Given the description of an element on the screen output the (x, y) to click on. 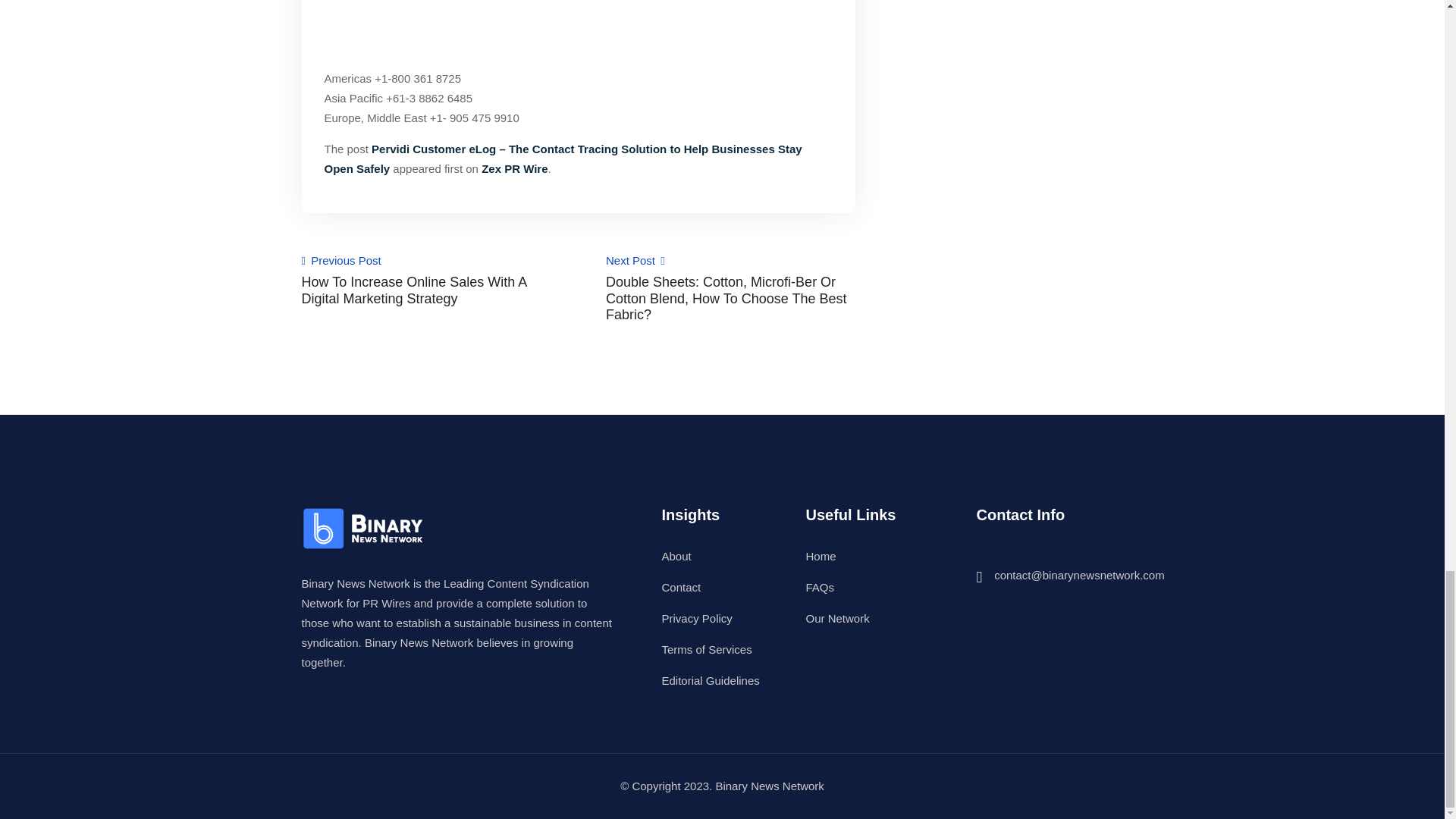
About (675, 555)
Contact (680, 586)
Zex PR Wire (514, 168)
Privacy Policy (696, 617)
Terms of Services (706, 649)
Covid-19 Electronic Customer Safety Log - Pervidi (578, 25)
